Given the description of an element on the screen output the (x, y) to click on. 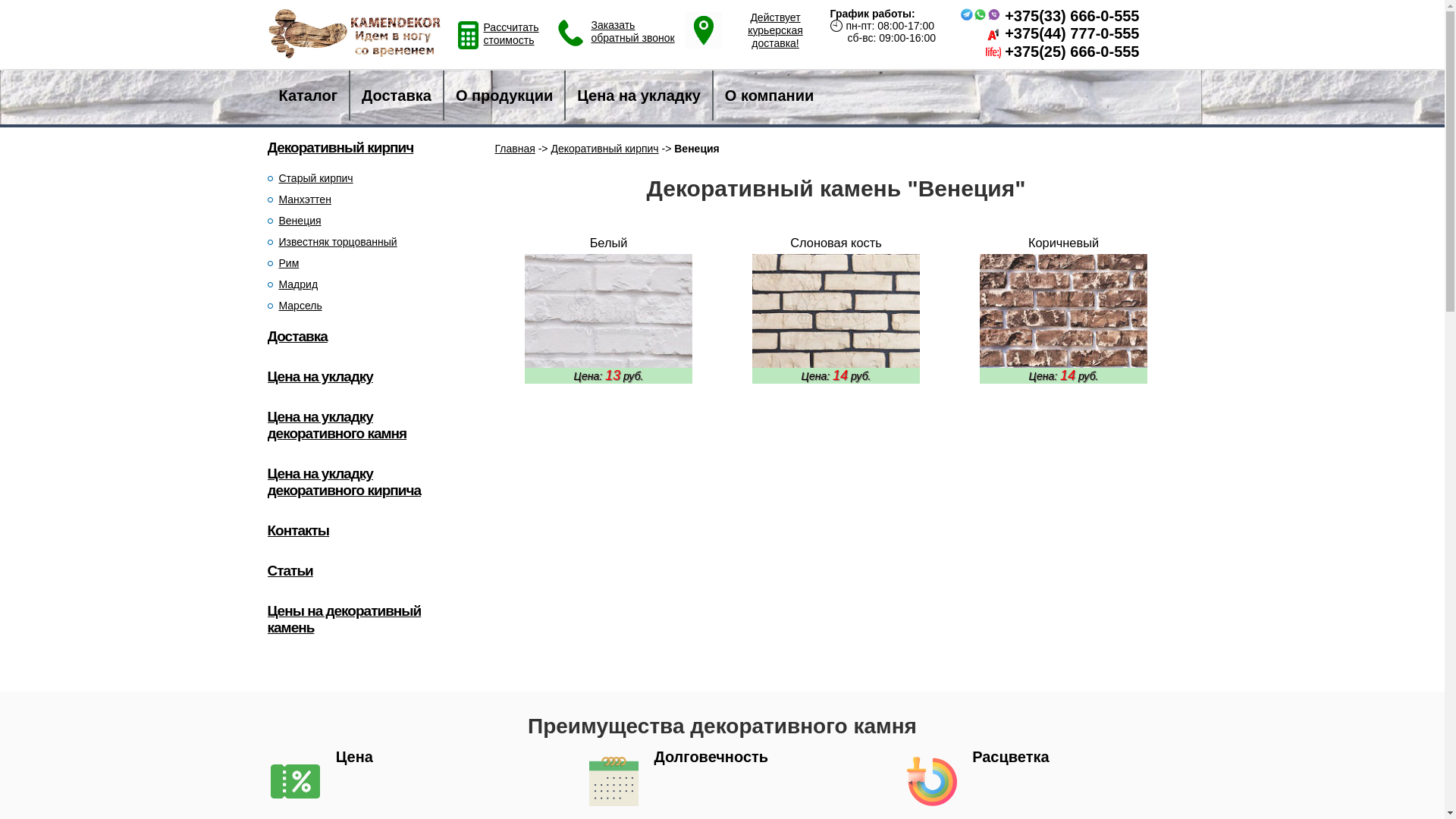
+375(25) 666-0-555 Element type: text (1071, 51)
+375(33) 666-0-555 Element type: text (1071, 15)
+375(44) 777-0-555 Element type: text (1071, 33)
